Given the description of an element on the screen output the (x, y) to click on. 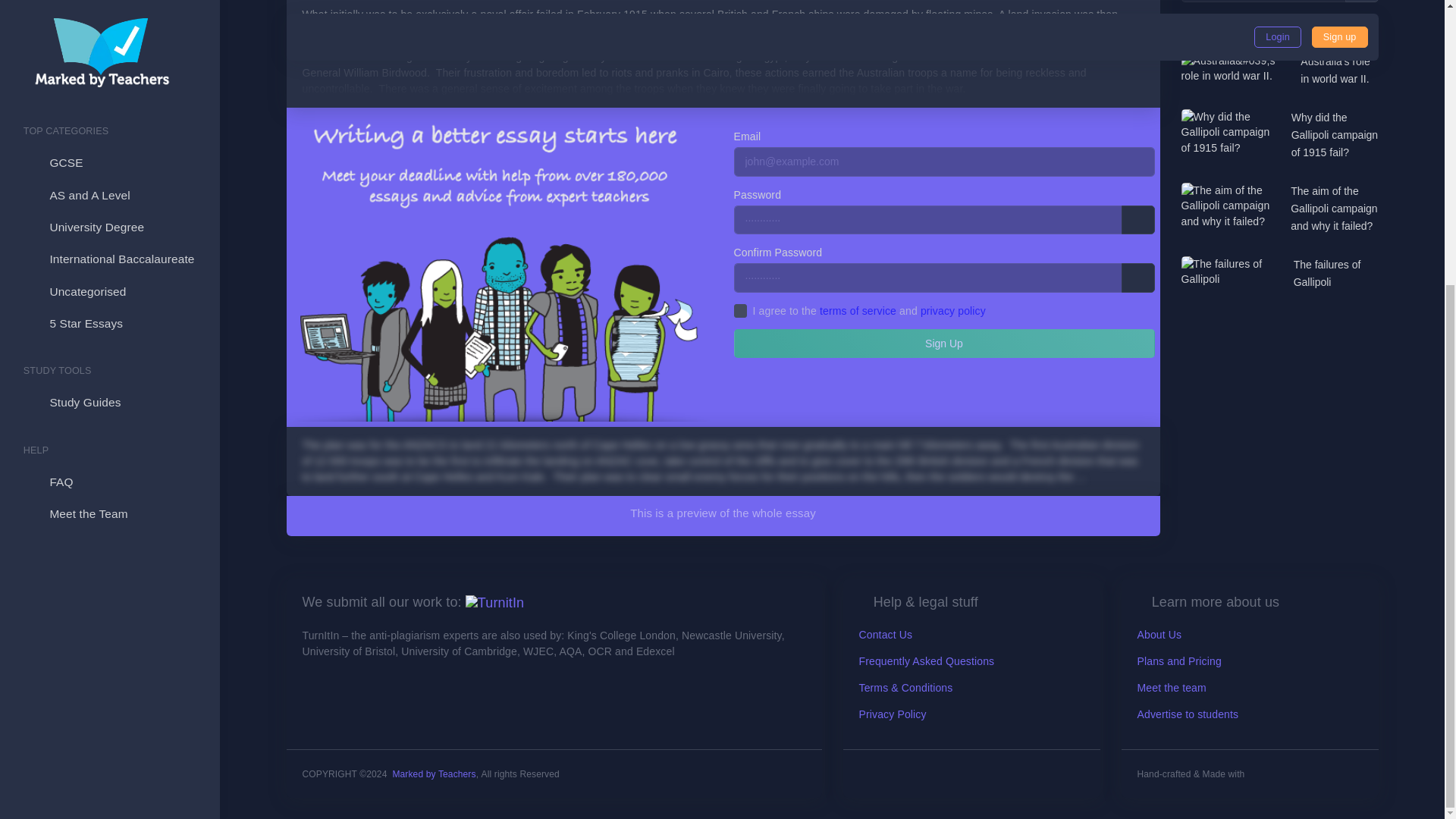
on (740, 310)
FAQ (109, 51)
The aim of the Gallipoli campaign and why it failed? (1333, 208)
Frequently Asked Questions (926, 661)
FAQ (109, 51)
The failures of Gallipoli (1336, 273)
Why did the Gallipoli campaign of 1915 fail? (1334, 134)
About Us (1159, 634)
Marked by Teachers (1334, 134)
terms of service (433, 774)
Meet the Team (857, 310)
privacy policy (109, 83)
Privacy Policy (952, 310)
Contact Us (892, 714)
